Given the description of an element on the screen output the (x, y) to click on. 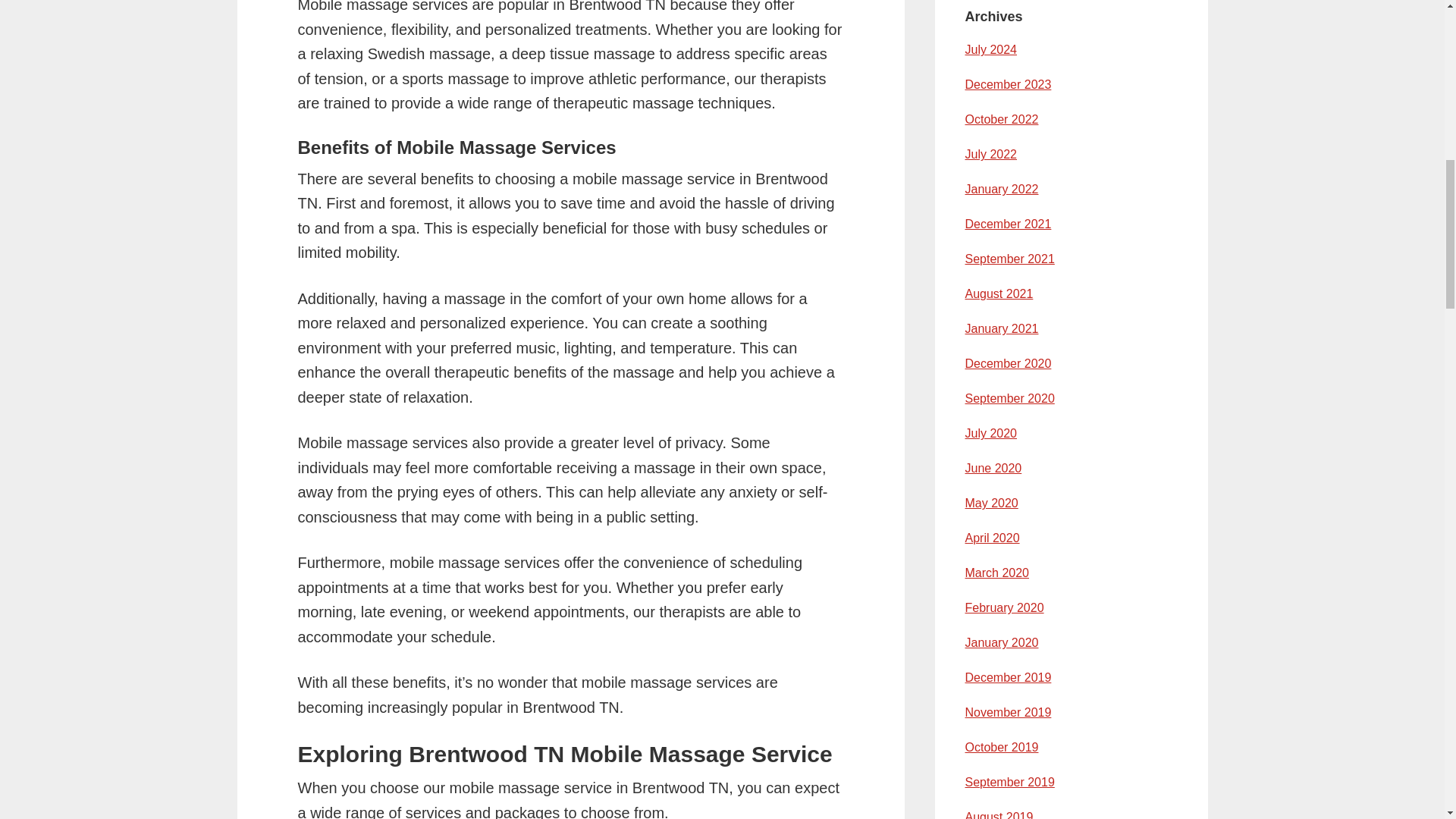
July 2022 (989, 154)
December 2020 (1007, 363)
September 2021 (1008, 258)
December 2021 (1007, 223)
January 2022 (1000, 188)
January 2021 (1000, 328)
July 2024 (989, 49)
October 2022 (1000, 119)
December 2023 (1007, 83)
August 2021 (997, 293)
